Given the description of an element on the screen output the (x, y) to click on. 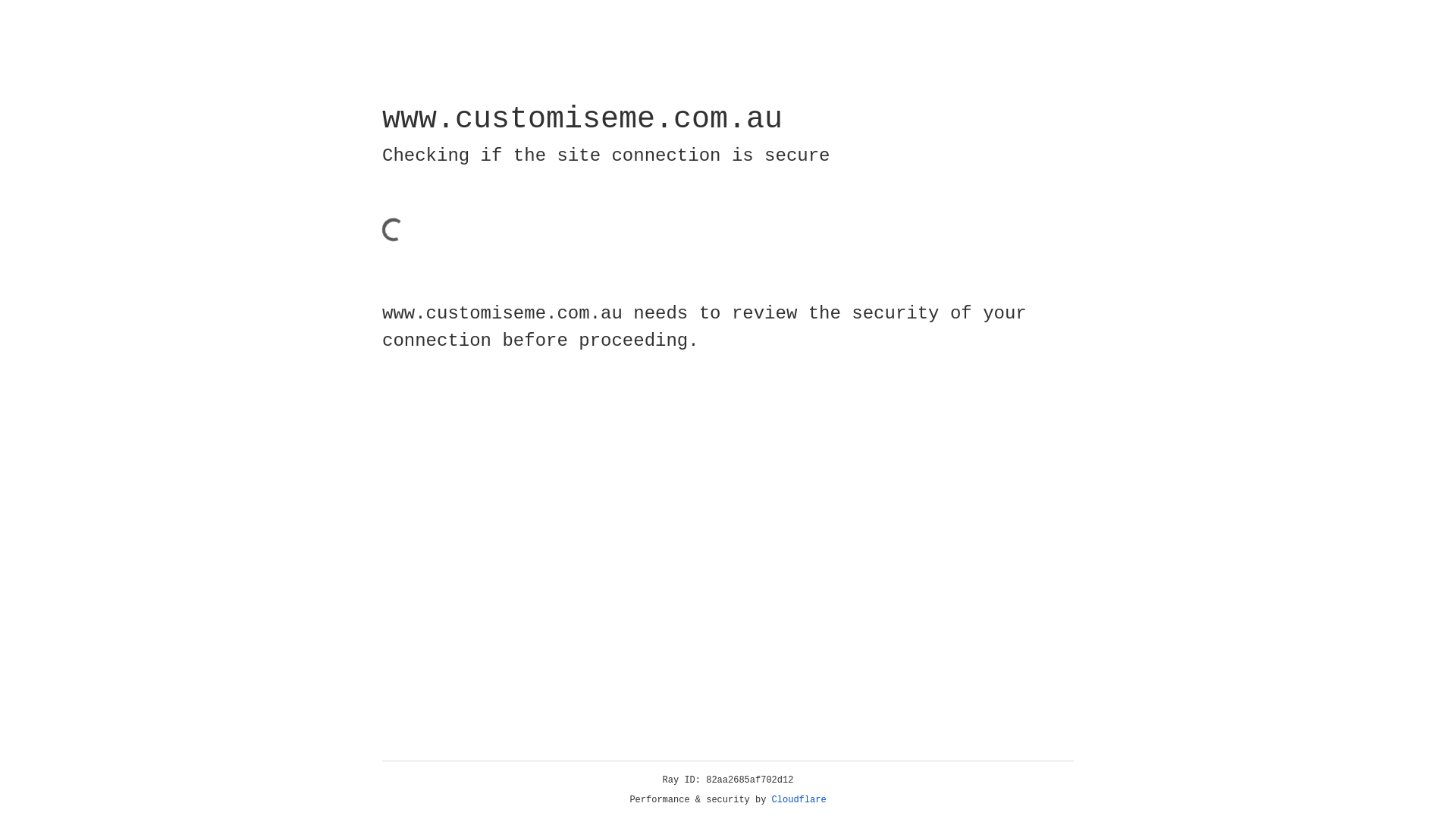
Cloudflare Element type: text (798, 799)
